Given the description of an element on the screen output the (x, y) to click on. 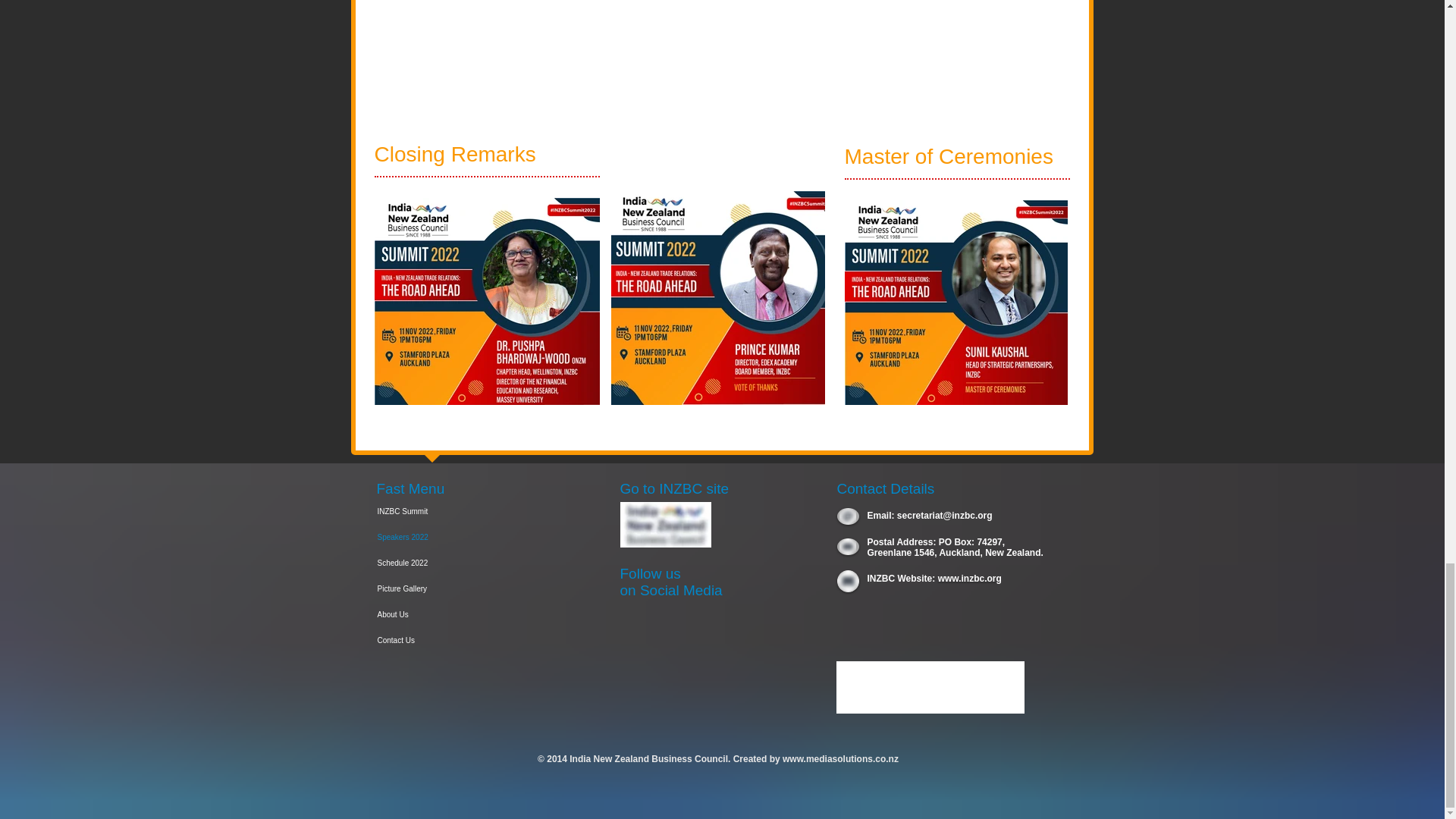
INZBC Summit (443, 511)
Speakers 2022 (443, 537)
